Given the description of an element on the screen output the (x, y) to click on. 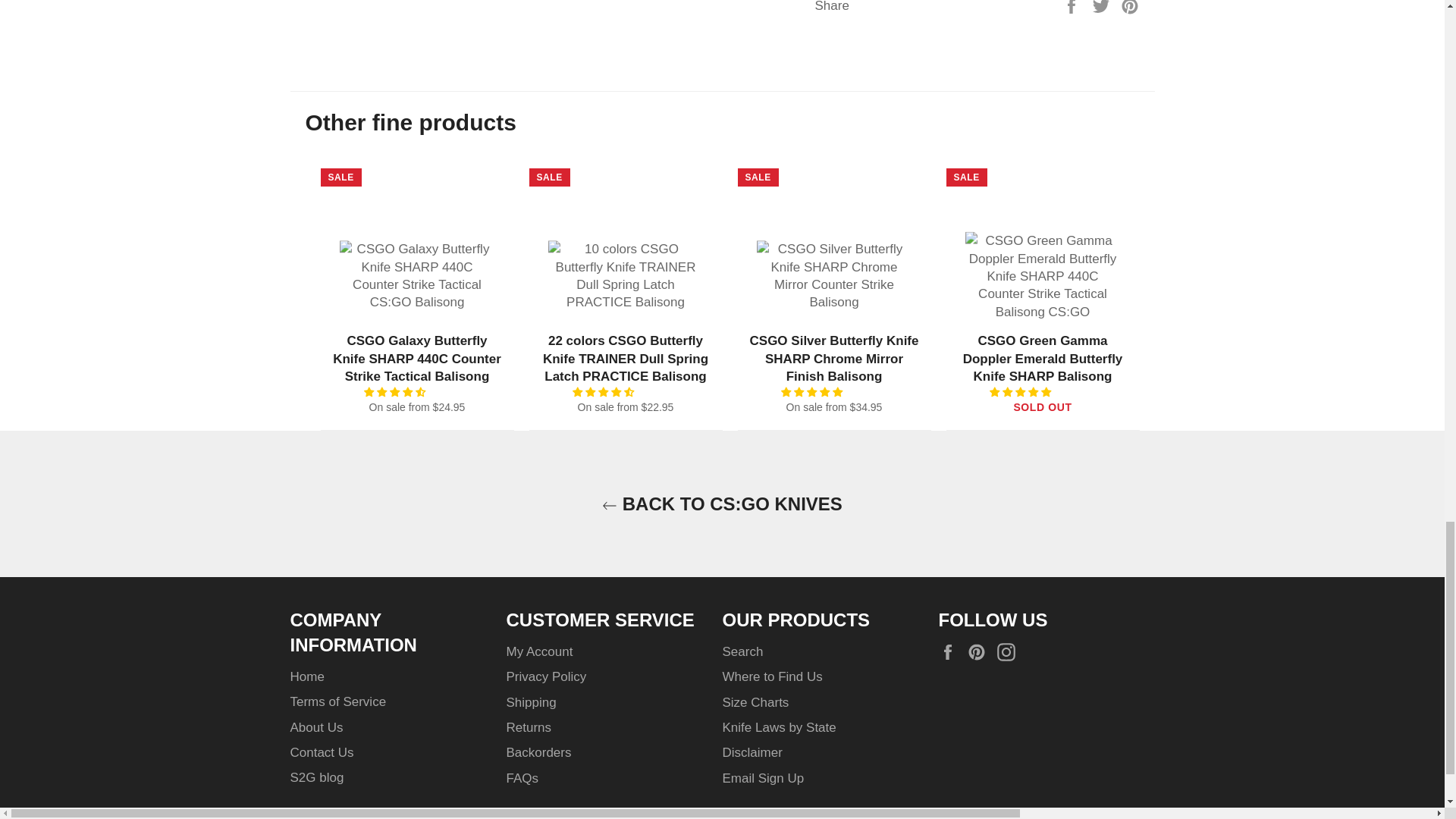
Pin on Pinterest (1129, 6)
Slash2Gash on Facebook (951, 651)
Slash2Gash on Instagram (1010, 651)
Share on Facebook (1073, 6)
Slash2Gash on Pinterest (980, 651)
Tweet on Twitter (1102, 6)
